Given the description of an element on the screen output the (x, y) to click on. 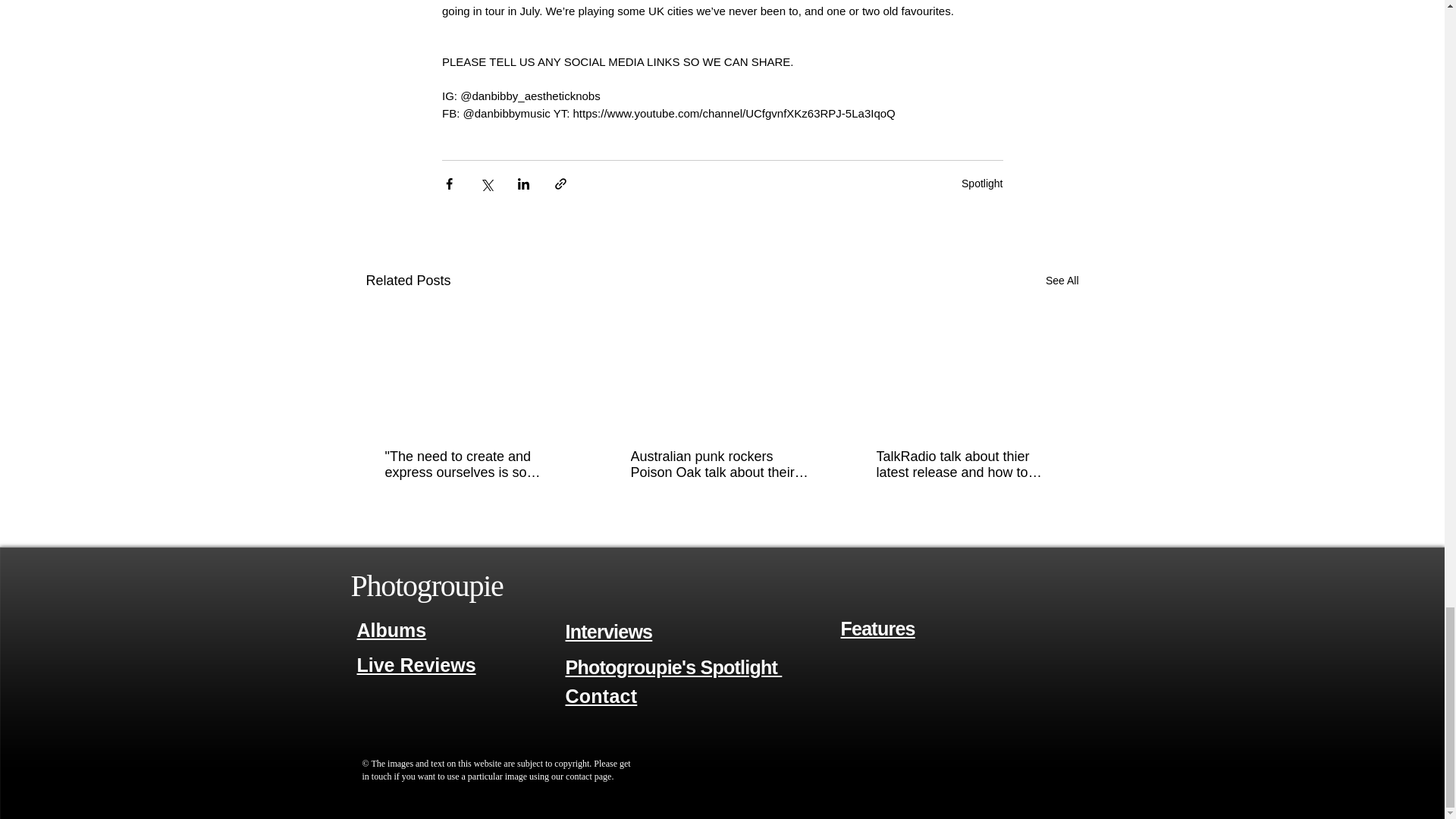
Photogroupie's Spotlight  (674, 667)
Interviews (609, 631)
Photogroupie (426, 585)
Contact (601, 696)
Albums (391, 629)
Spotlight (981, 183)
Live Reviews (416, 665)
See All (1061, 280)
